Given the description of an element on the screen output the (x, y) to click on. 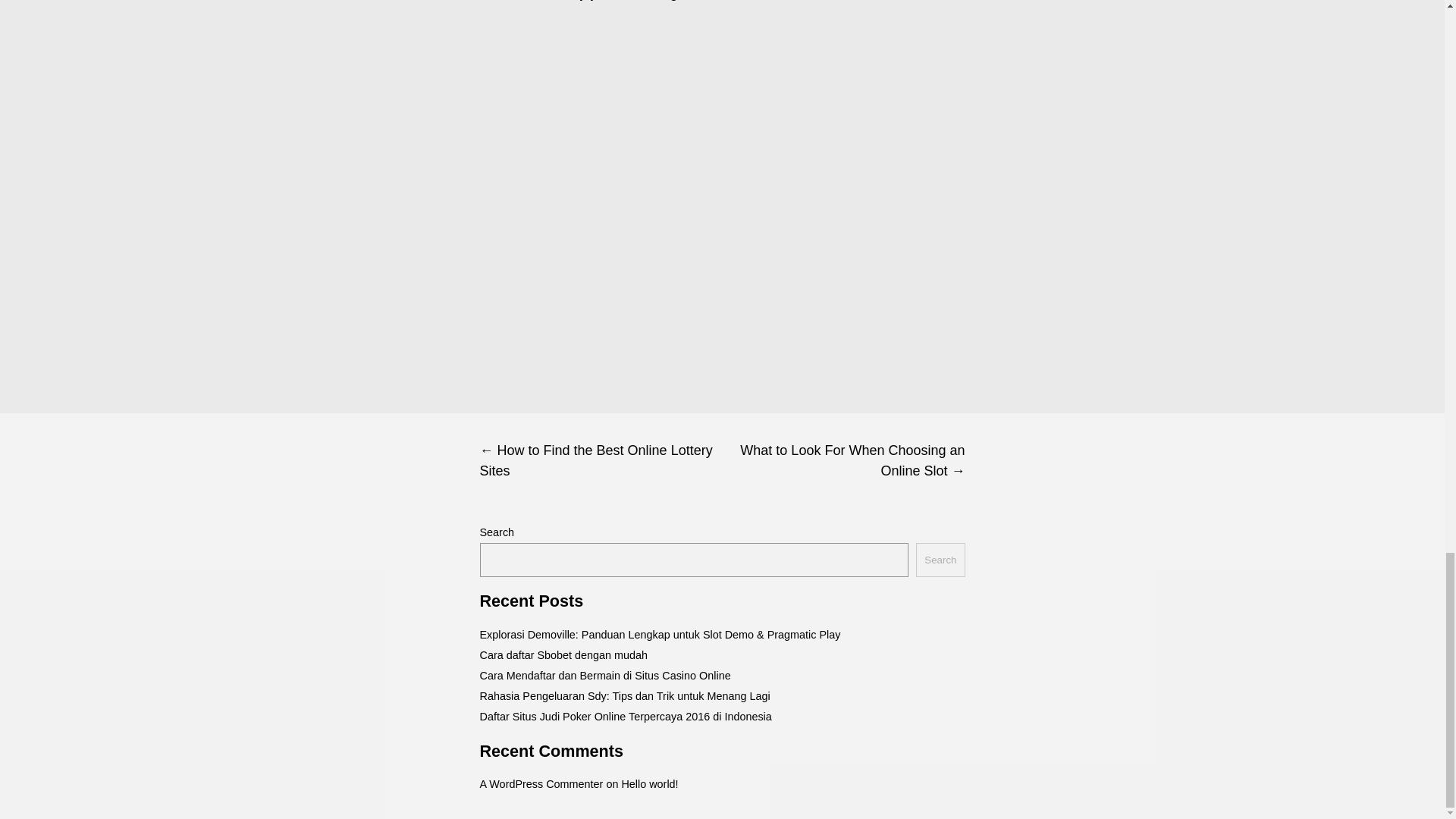
What to Look For When Choosing an Online Slot (842, 460)
Search (939, 559)
Cara daftar Sbobet dengan mudah (563, 654)
A WordPress Commenter (540, 784)
How to Find the Best Online Lottery Sites (600, 460)
Rahasia Pengeluaran Sdy: Tips dan Trik untuk Menang Lagi (624, 695)
Cara Mendaftar dan Bermain di Situs Casino Online (604, 675)
Daftar Situs Judi Poker Online Terpercaya 2016 di Indonesia (625, 716)
Hello world! (649, 784)
